Given the description of an element on the screen output the (x, y) to click on. 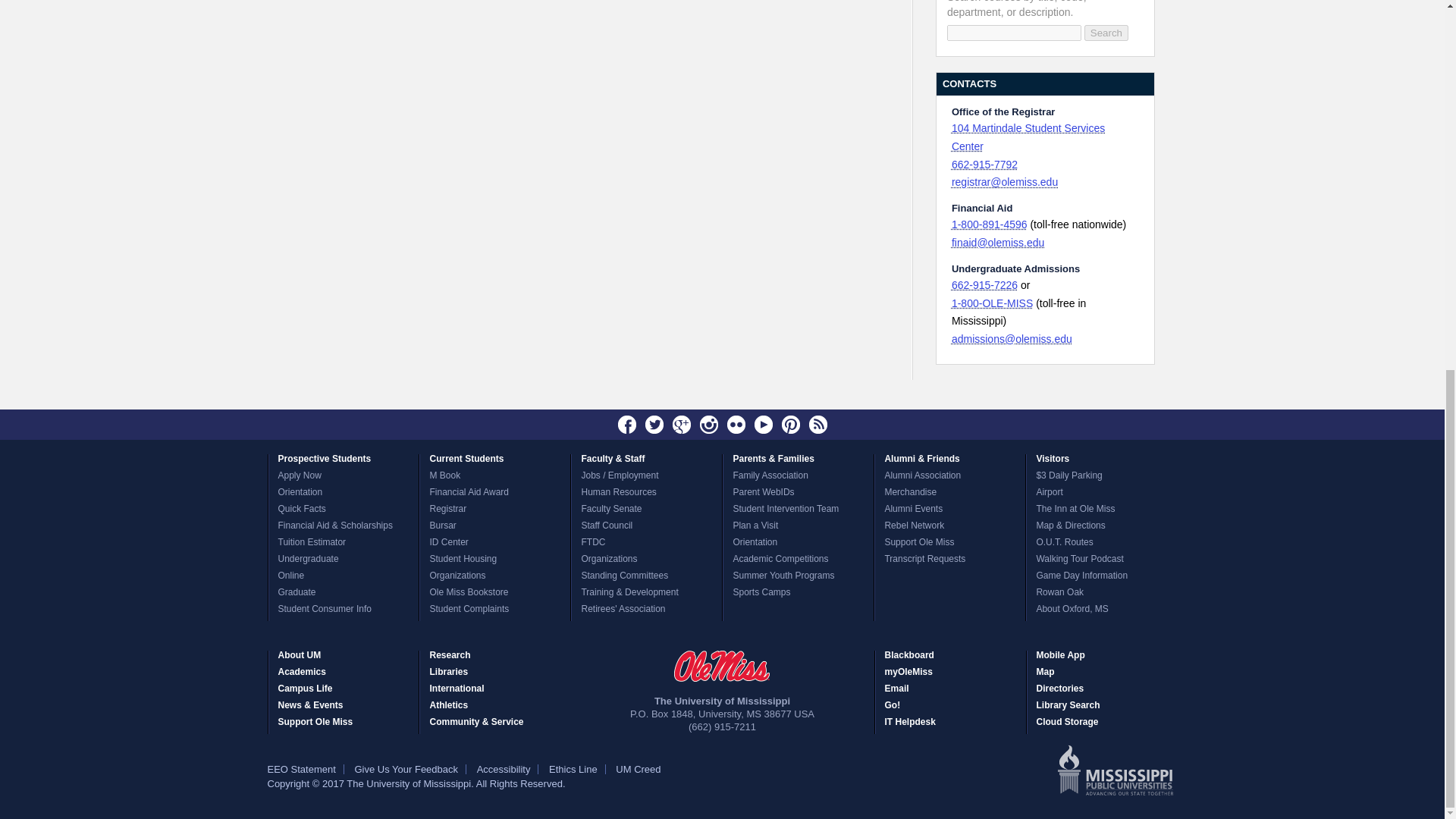
Pinterest (790, 424)
Instagram (708, 424)
Twitter (654, 424)
Facebook (627, 424)
Flickr (735, 424)
Search (1106, 32)
Youtube (763, 424)
News Feed (818, 424)
